Given the description of an element on the screen output the (x, y) to click on. 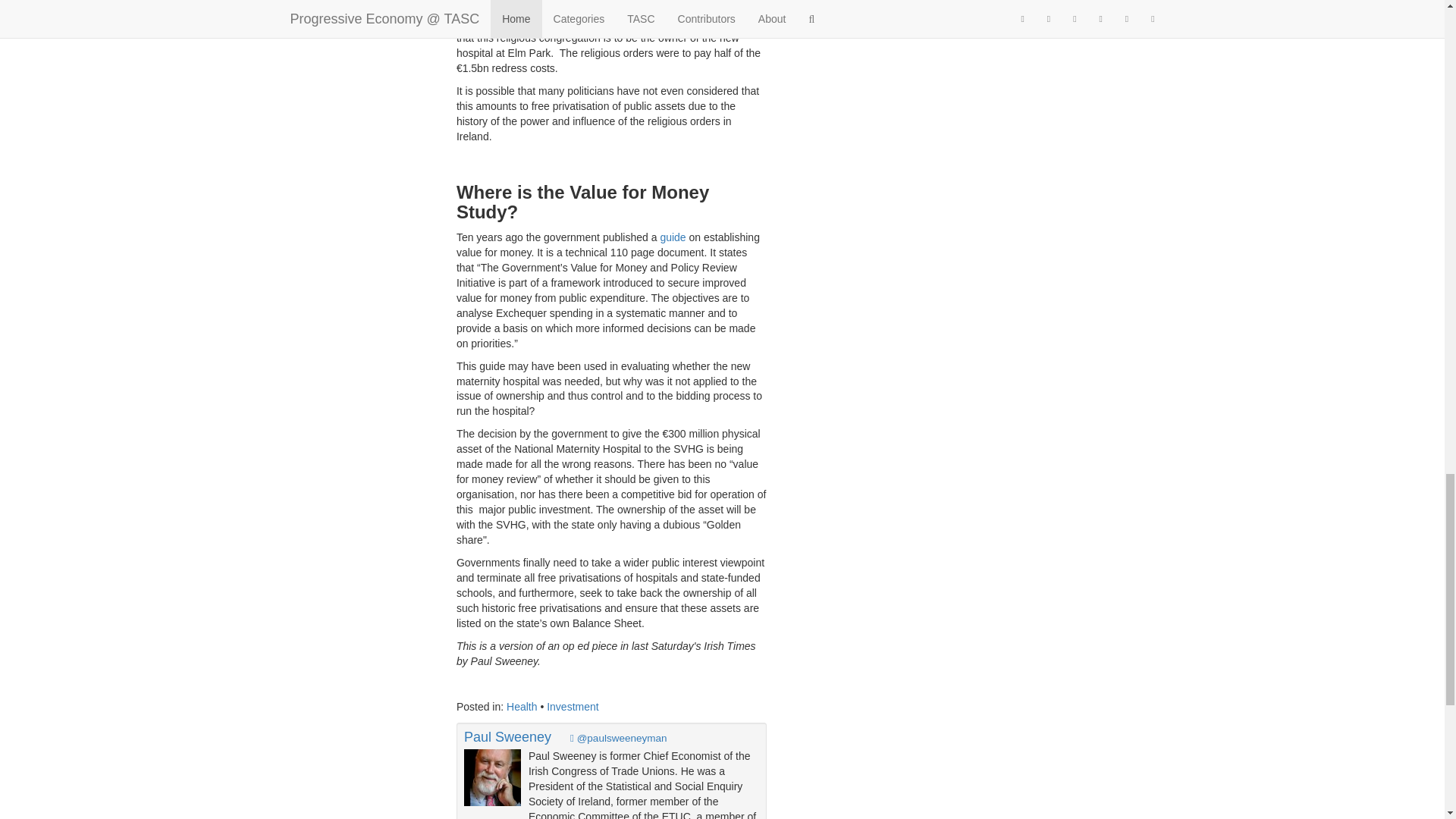
Paul Sweeney (507, 736)
Investment (572, 706)
guide (672, 236)
Health (521, 706)
